Given the description of an element on the screen output the (x, y) to click on. 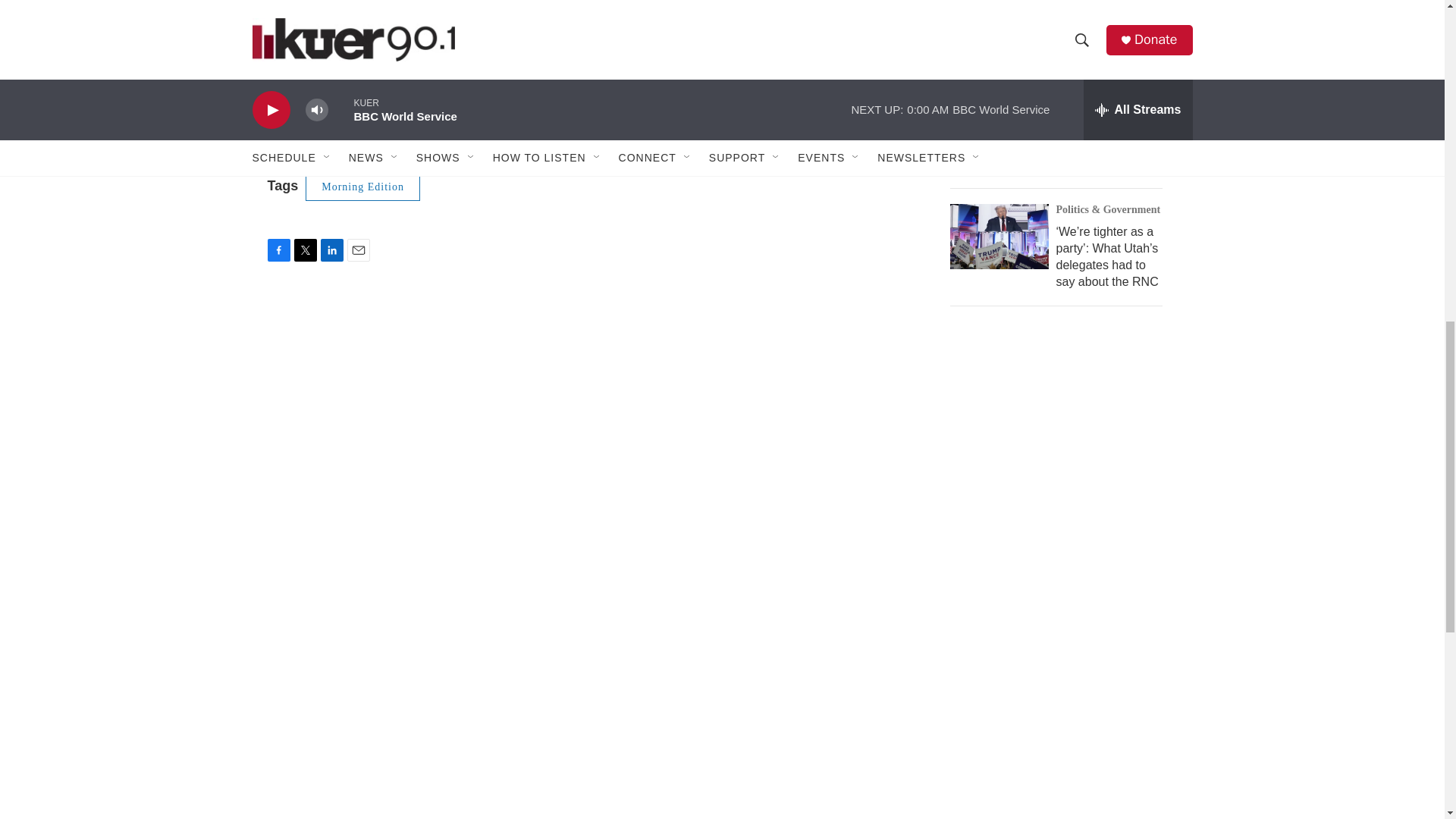
3rd party ad content (1062, 706)
3rd party ad content (1062, 450)
